Given the description of an element on the screen output the (x, y) to click on. 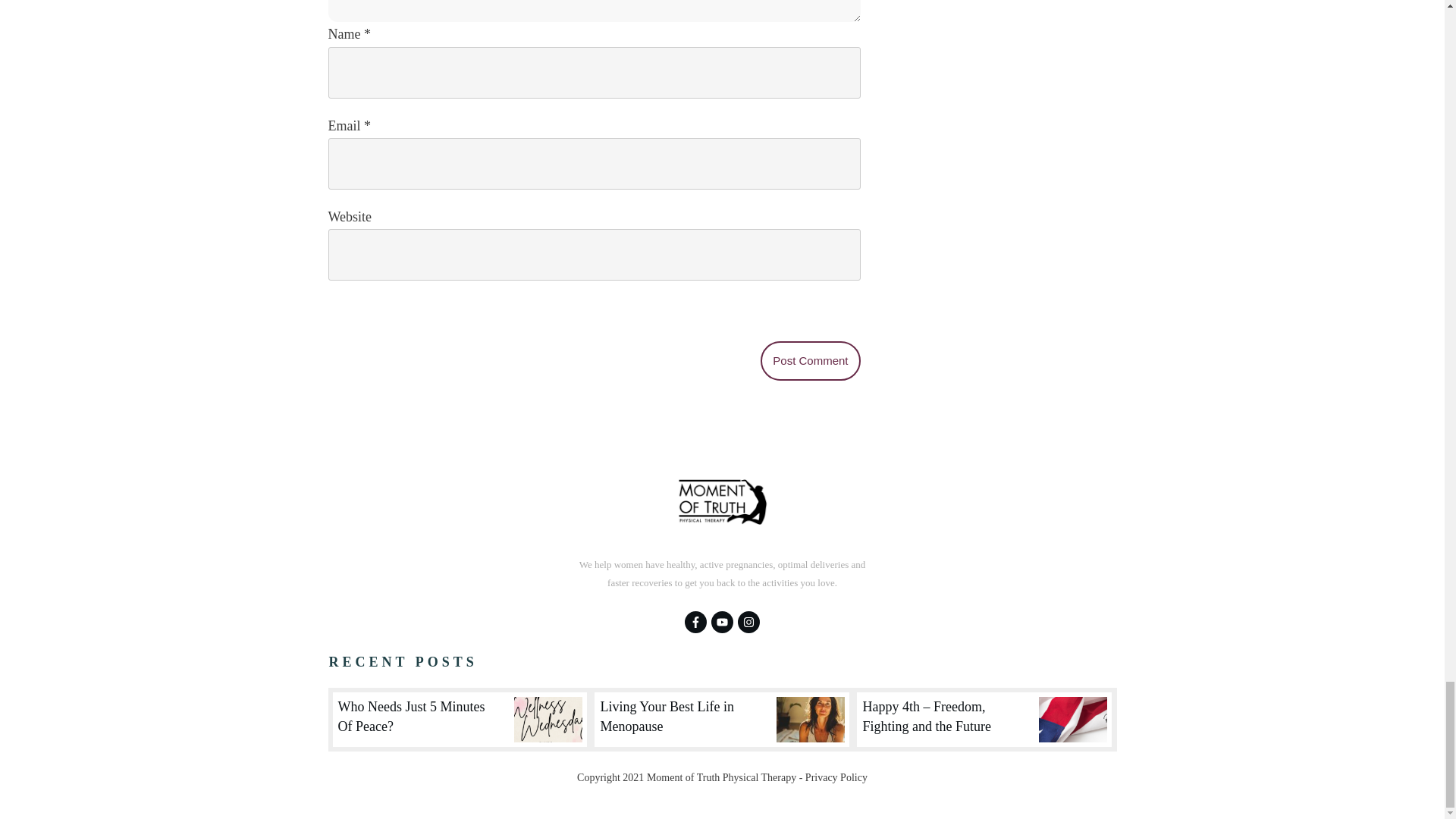
Who Needs Just 5 Minutes Of Peace? (410, 716)
Living Your Best Life in Menopause (666, 716)
